Given the description of an element on the screen output the (x, y) to click on. 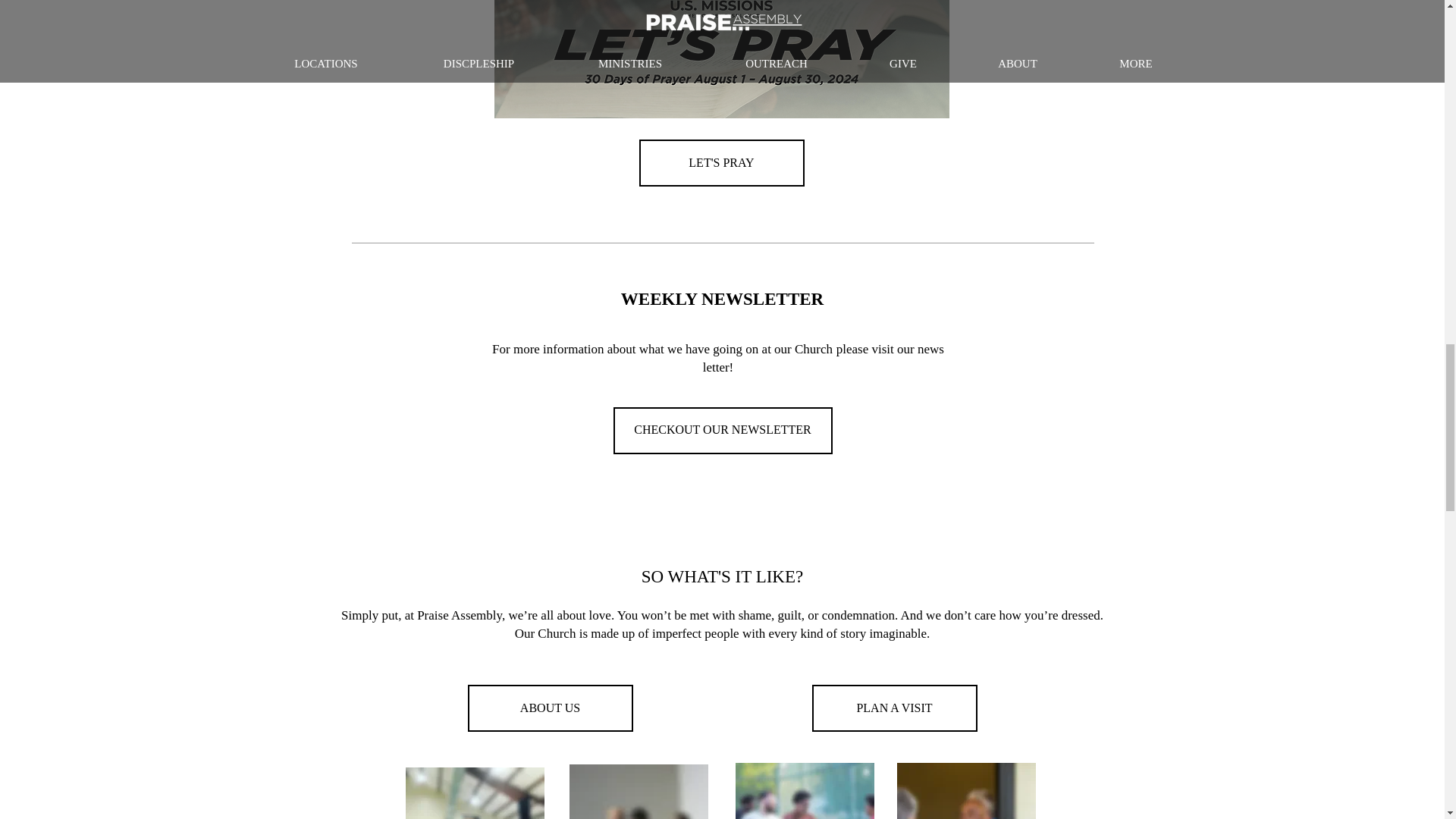
17853630248679440.jpg (473, 793)
CHECKOUT OUR NEWSLETTER (721, 430)
LET'S PRAY (721, 162)
17869009004611008.jpg (805, 790)
18131738704255315.jpg (965, 790)
PLAN A VISIT (893, 708)
17890352192515268.jpg (638, 791)
ABOUT US (549, 708)
